Given the description of an element on the screen output the (x, y) to click on. 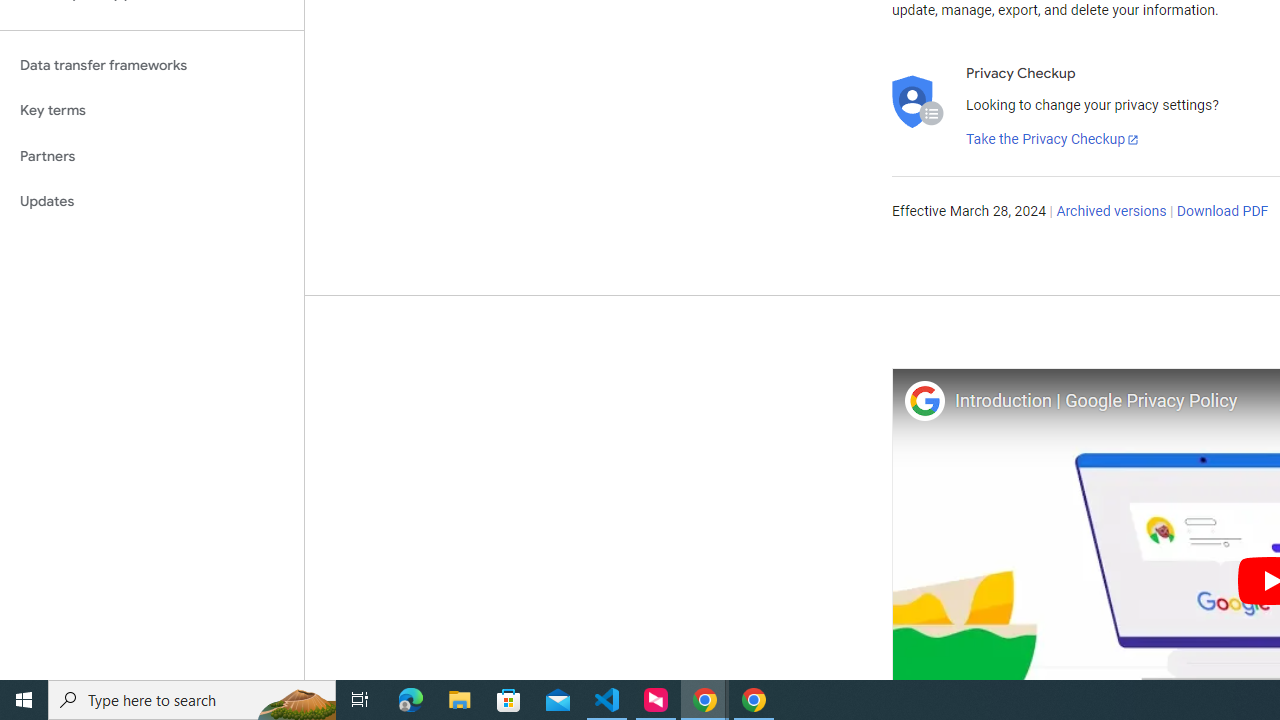
Photo image of Google (924, 400)
Take the Privacy Checkup (1053, 140)
Download PDF (1222, 212)
Archived versions (1111, 212)
Data transfer frameworks (152, 65)
Key terms (152, 110)
Partners (152, 156)
